Given the description of an element on the screen output the (x, y) to click on. 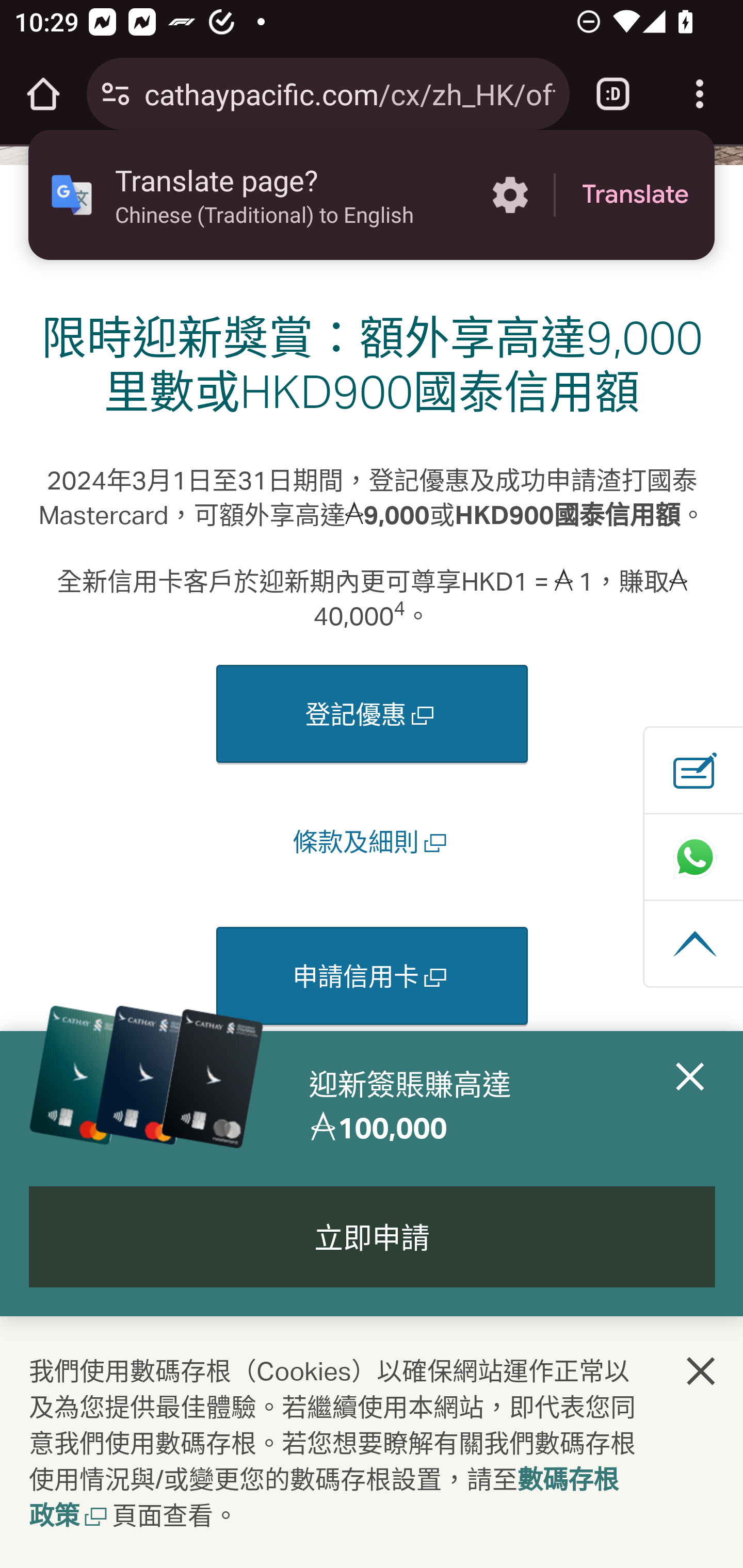
Open the home page (43, 93)
Connection is secure (115, 93)
Switch or close tabs (612, 93)
Customize and control Google Chrome (699, 93)
Translate (634, 195)
More options in the Translate page? (509, 195)
登記優惠 開啟新視窗 登記優惠 開啟新視窗 (371, 713)
條款及細則 開啟新視窗 條款及細則 開啟新視窗 (372, 841)
申請信用卡 開啟新視窗 申請信用卡 開啟新視窗 (371, 976)
Close (690, 1105)
關閉 (701, 1370)
數碼存根政策, 在新窗口中打开 數碼存根政策 開啟新視窗 (323, 1498)
